Given the description of an element on the screen output the (x, y) to click on. 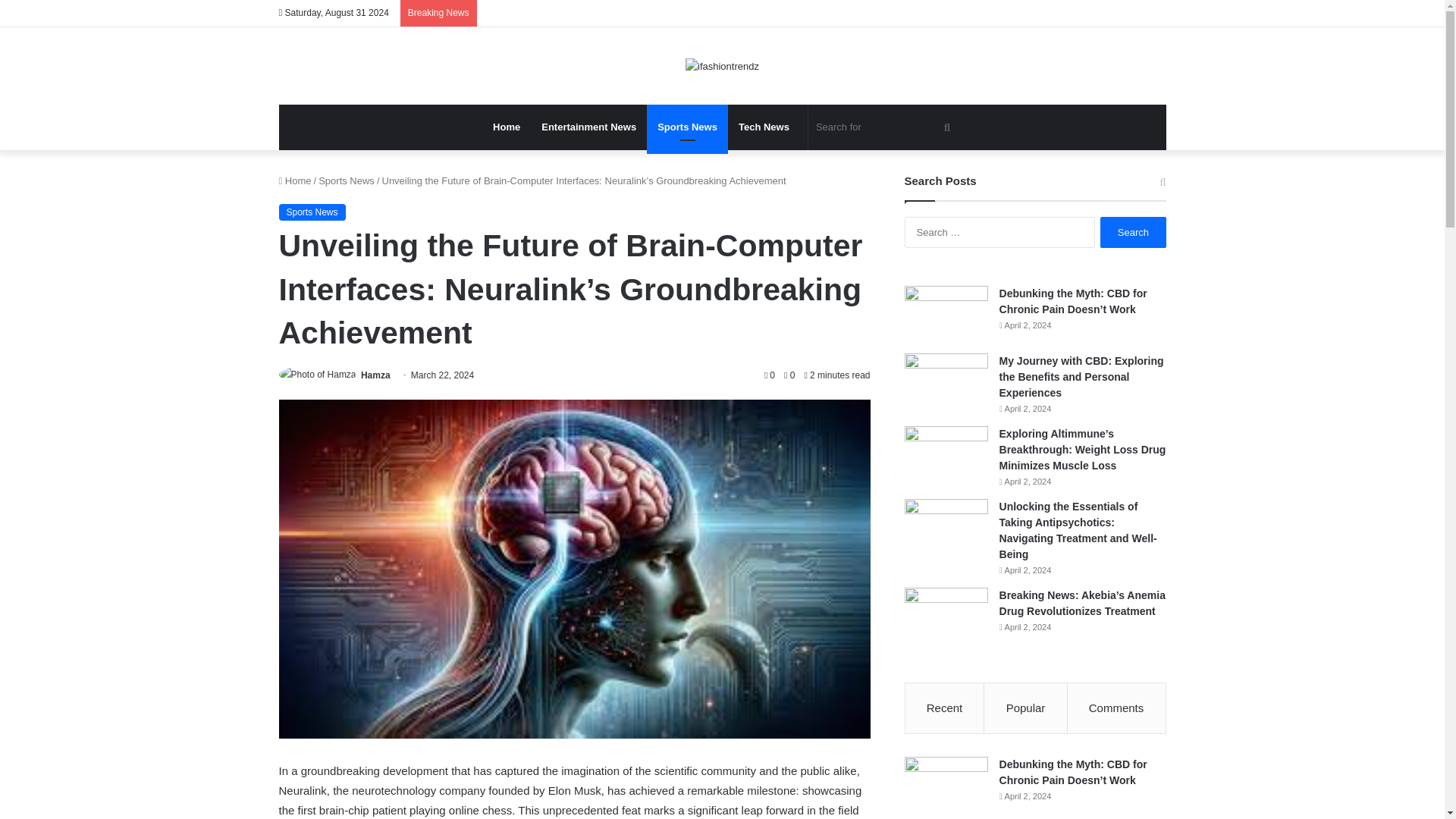
ifashiontrendz (721, 65)
Sports News (687, 126)
Hamza (375, 375)
Hamza (375, 375)
Sports News (346, 180)
Home (506, 126)
Search (1133, 232)
Entertainment News (588, 126)
Search for (885, 126)
Home (295, 180)
